Given the description of an element on the screen output the (x, y) to click on. 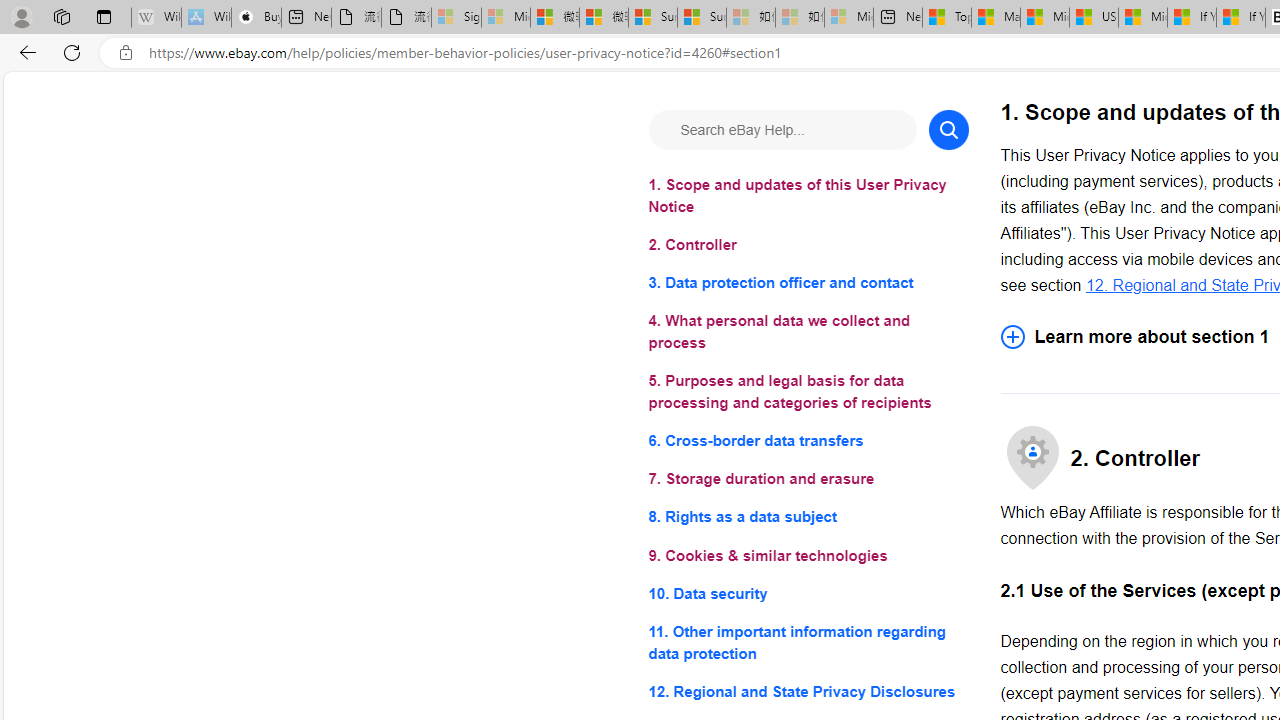
1. Scope and updates of this User Privacy Notice (807, 196)
11. Other important information regarding data protection (807, 642)
7. Storage duration and erasure (807, 479)
3. Data protection officer and contact (807, 283)
6. Cross-border data transfers (807, 440)
12. Regional and State Privacy Disclosures (807, 690)
12. Regional and State Privacy Disclosures (807, 690)
1. Scope and updates of this User Privacy Notice (807, 196)
10. Data security (807, 592)
